Given the description of an element on the screen output the (x, y) to click on. 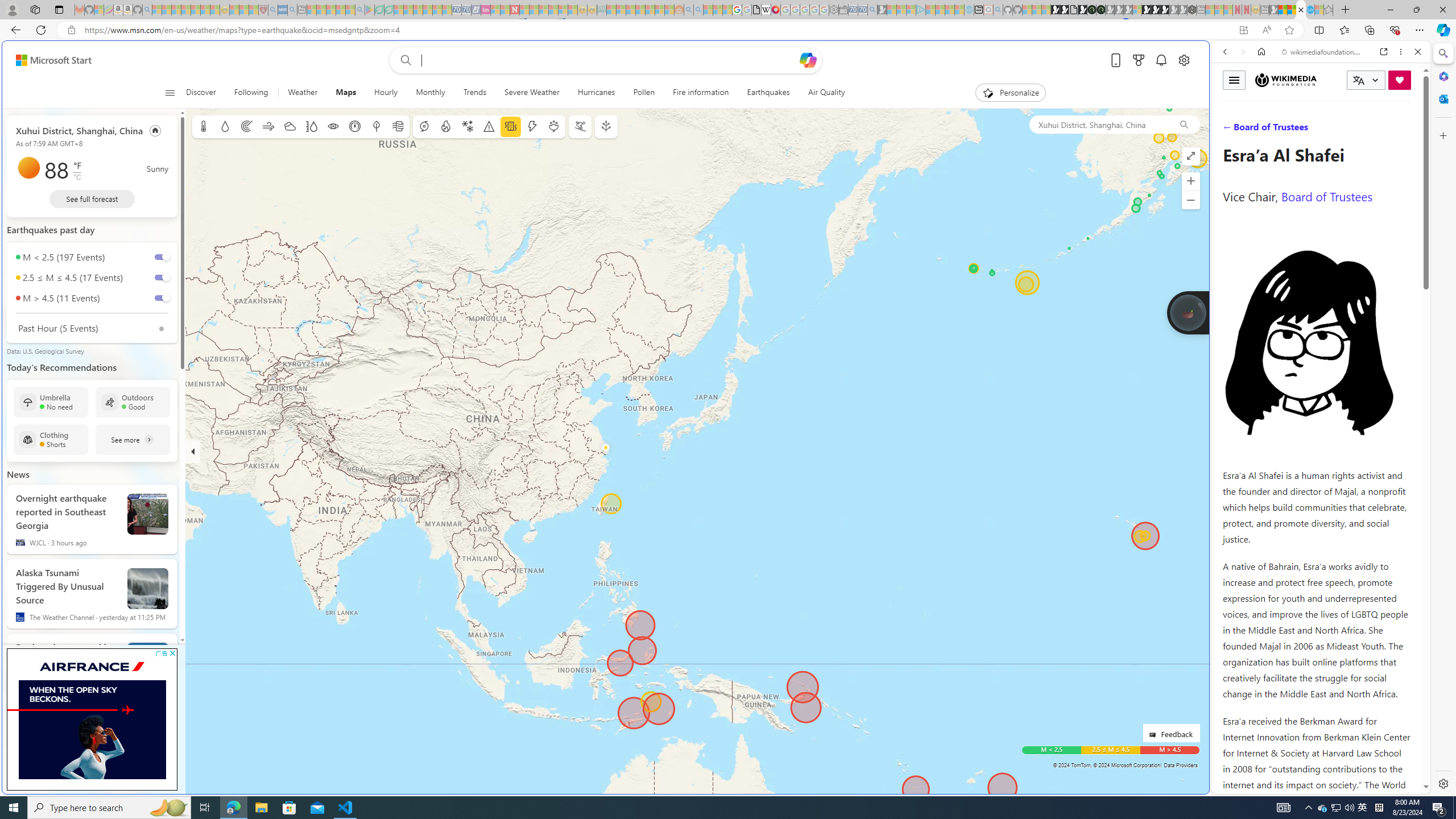
Temperature (203, 126)
Local - MSN - Sleeping (253, 9)
Join us in planting real trees to help our planet! (1188, 311)
github - Search - Sleeping (997, 9)
Outdoors Good (133, 401)
Recipes - MSN - Sleeping (234, 9)
Search Filter, IMAGES (1262, 129)
Set as primary location (155, 130)
